Given the description of an element on the screen output the (x, y) to click on. 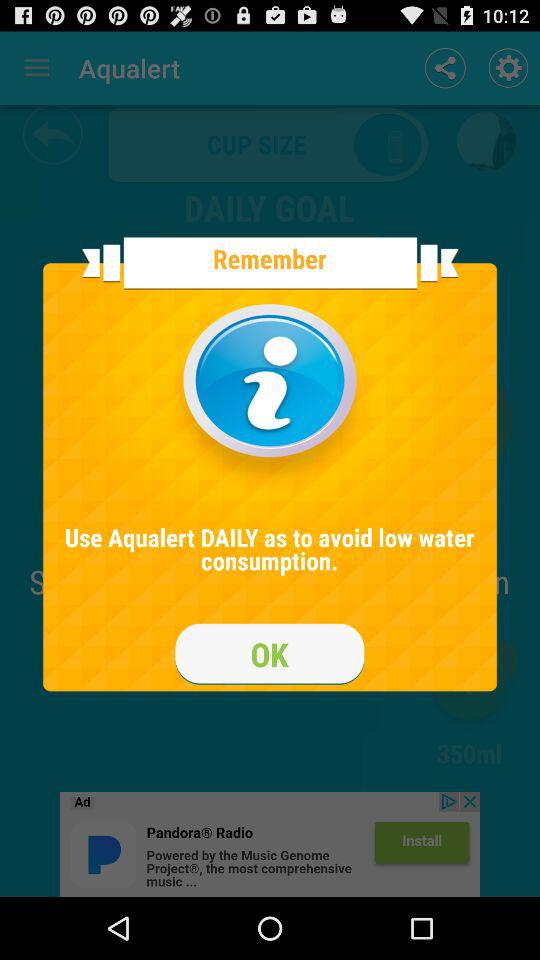
ok box option (269, 654)
